Given the description of an element on the screen output the (x, y) to click on. 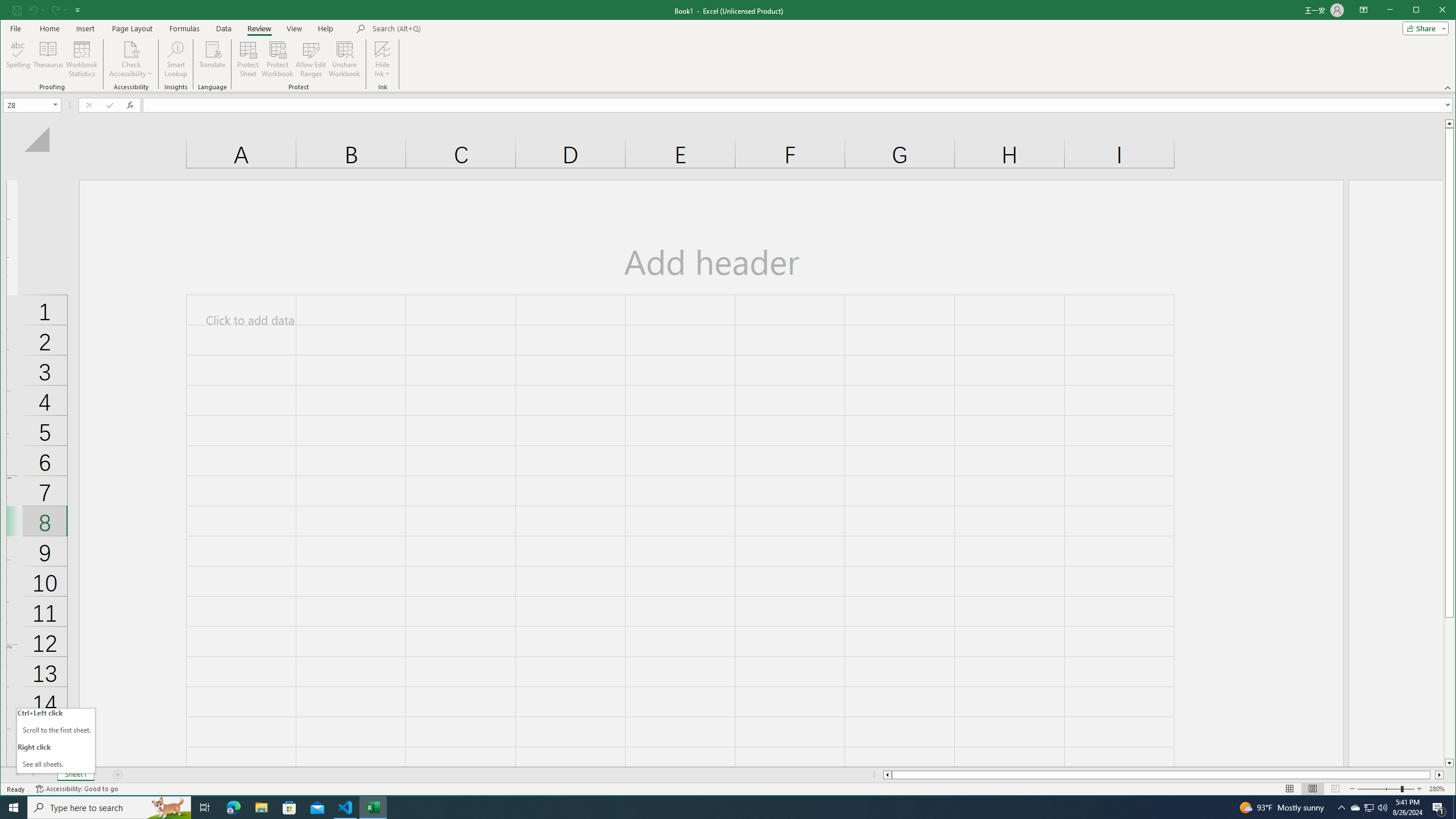
Microsoft Edge (233, 807)
Translate (212, 59)
Excel - 1 running window (373, 807)
Hide Ink (382, 59)
